Given the description of an element on the screen output the (x, y) to click on. 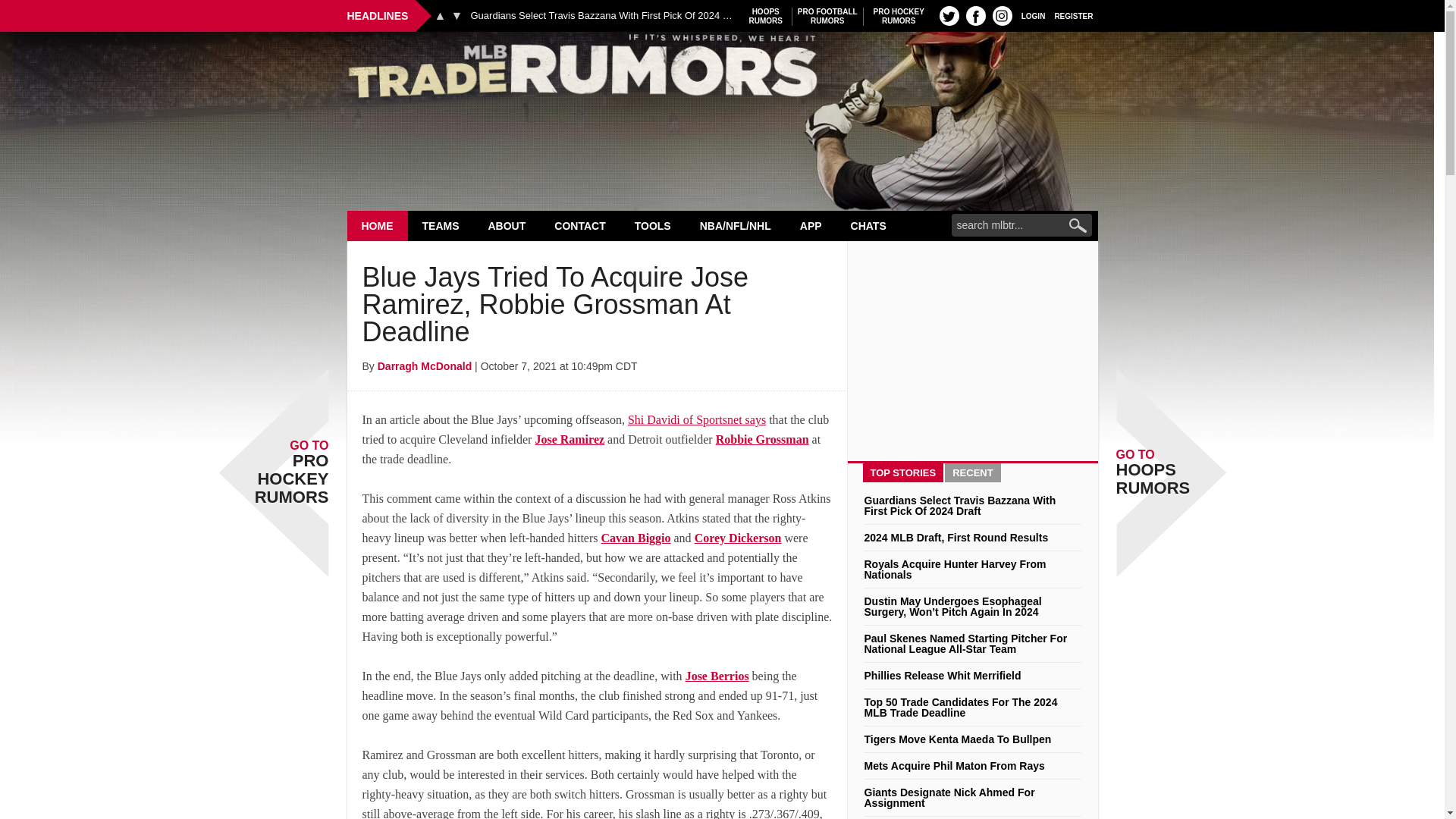
MLB Trade Rumors (722, 69)
Instagram profile (898, 16)
Next (1001, 15)
FB profile (456, 15)
TEAMS (827, 16)
Twitter profile (975, 15)
REGISTER (440, 225)
LOGIN (949, 15)
HOME (1073, 15)
Search (765, 16)
Previous (1032, 15)
